Given the description of an element on the screen output the (x, y) to click on. 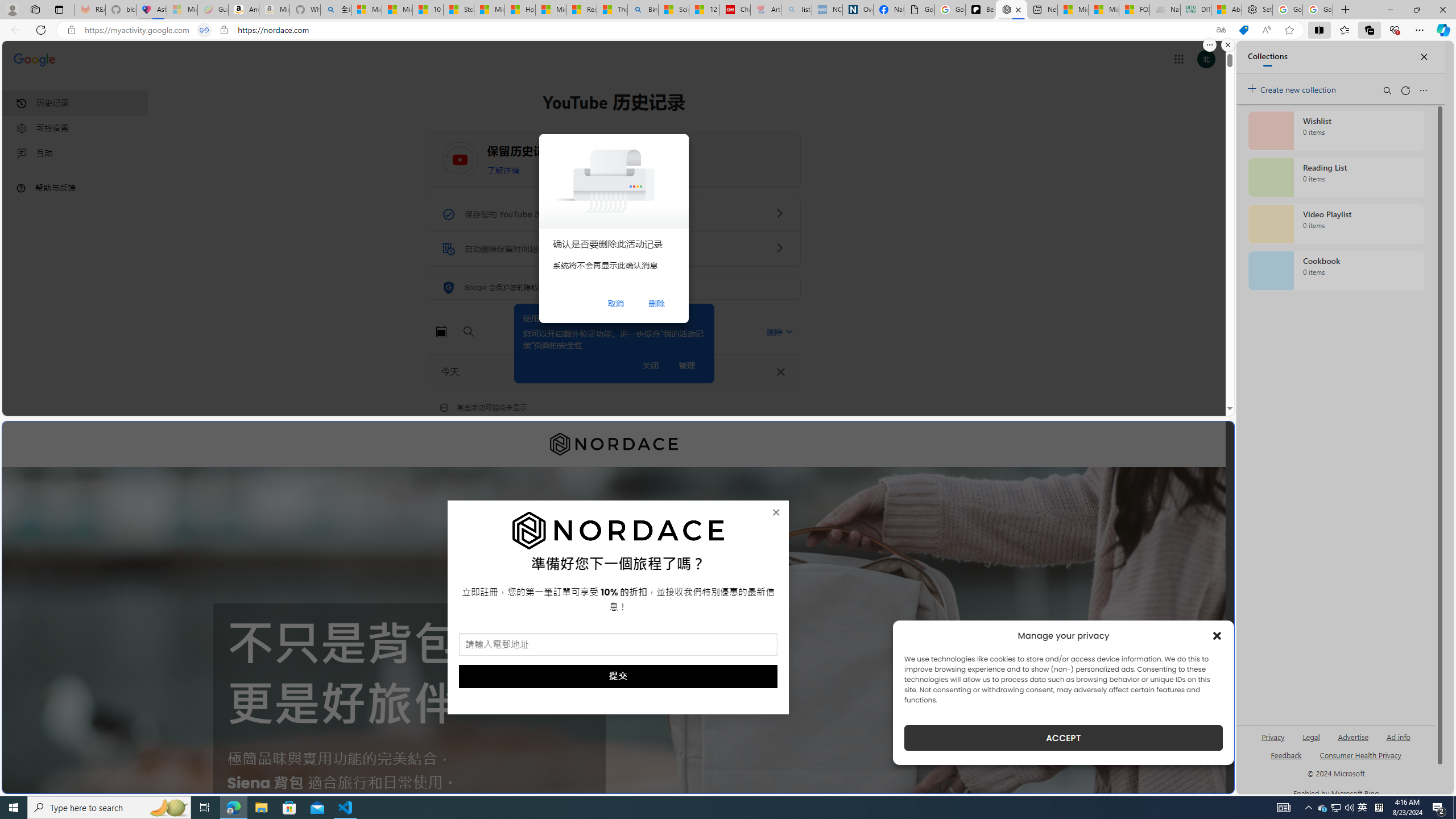
Aberdeen, Hong Kong SAR hourly forecast | Microsoft Weather (1226, 9)
